Given the description of an element on the screen output the (x, y) to click on. 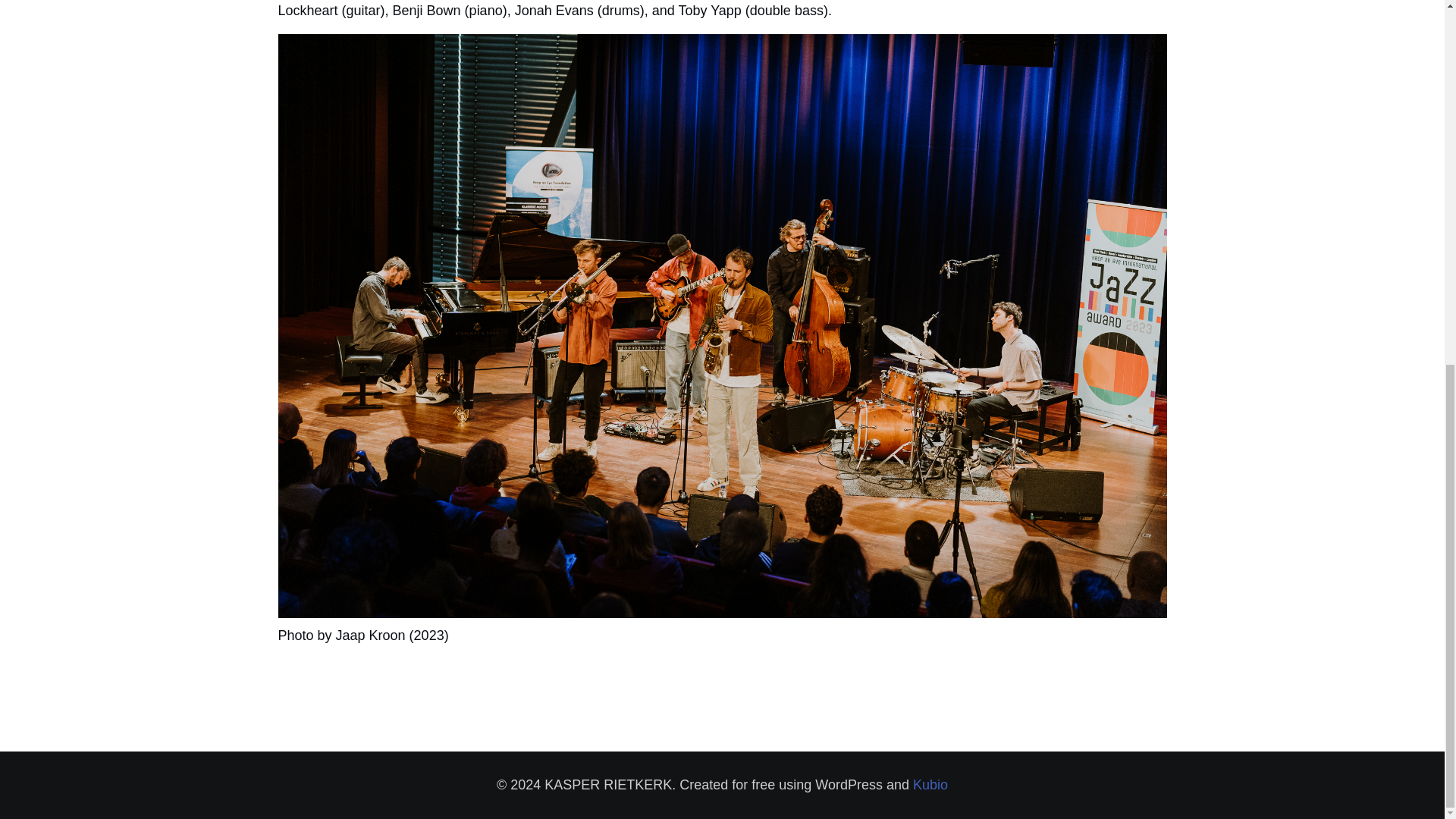
Kubio (929, 784)
